Given the description of an element on the screen output the (x, y) to click on. 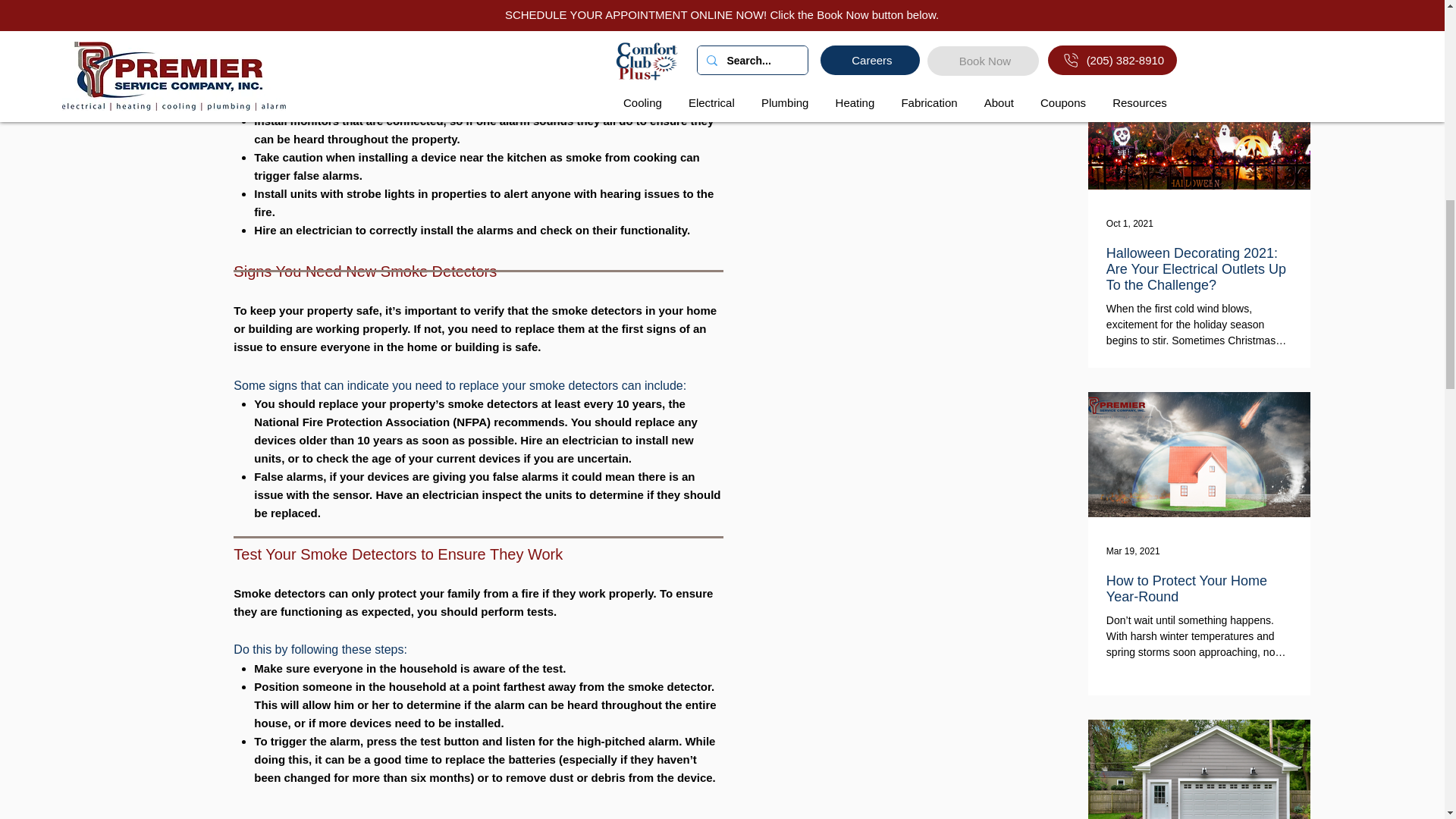
Mar 19, 2021 (1133, 551)
Oct 1, 2021 (1129, 223)
